Given the description of an element on the screen output the (x, y) to click on. 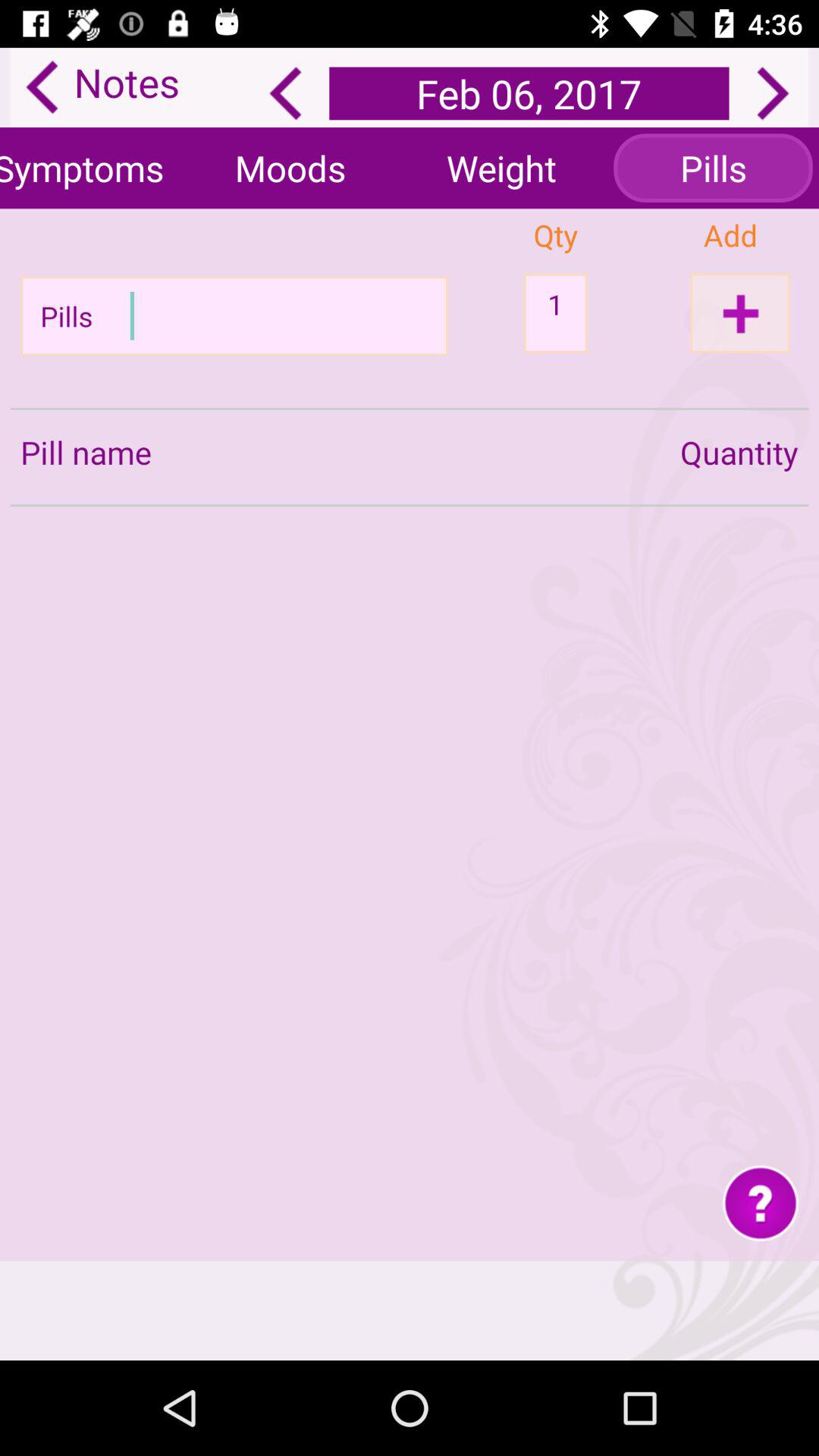
click to the next option (772, 93)
